Given the description of an element on the screen output the (x, y) to click on. 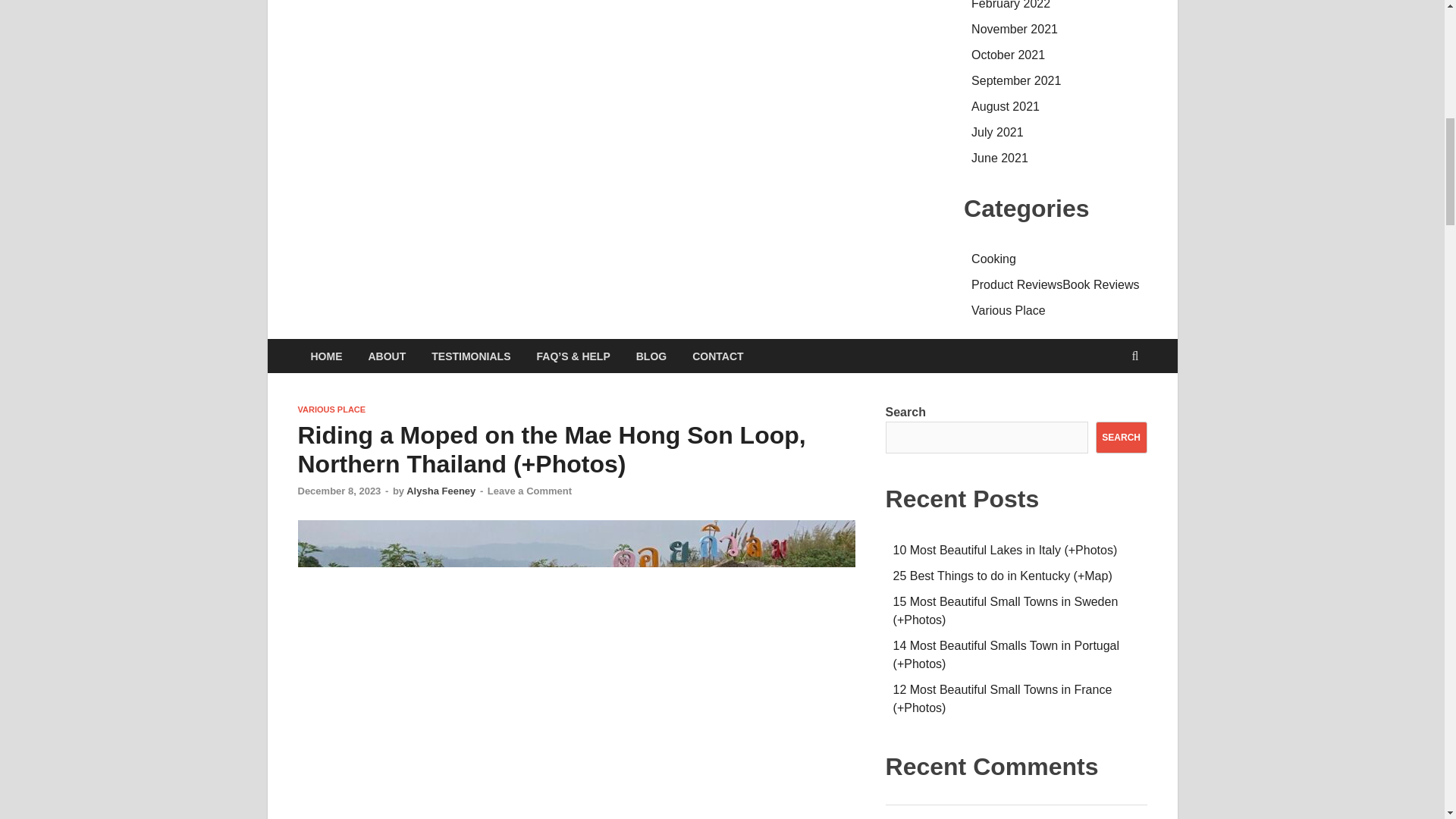
October 2021 (1008, 54)
February 2022 (1010, 4)
September 2021 (1016, 80)
November 2021 (1014, 29)
August 2021 (1005, 106)
